Given the description of an element on the screen output the (x, y) to click on. 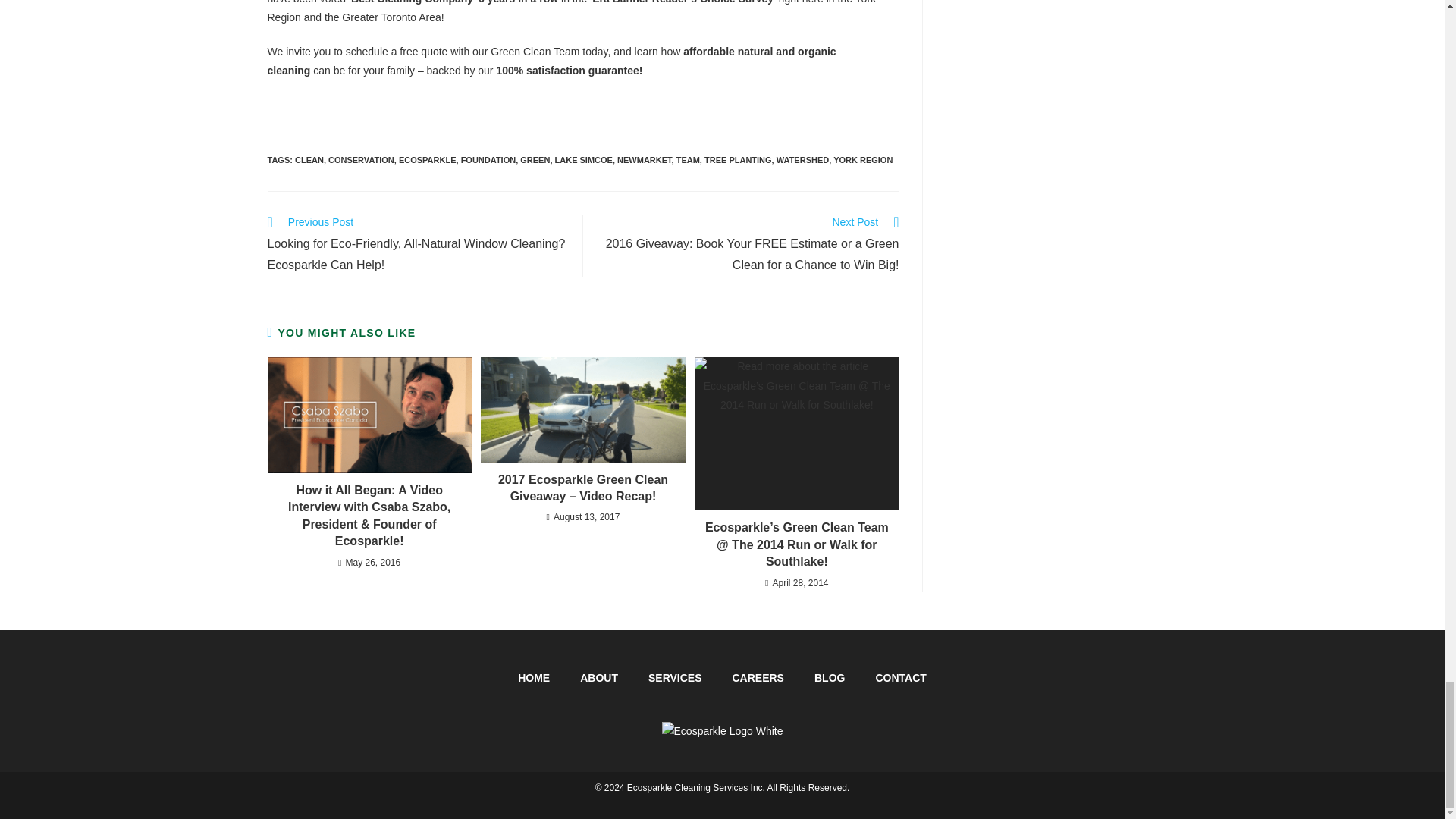
Ecosparkle Logo White (722, 731)
Our Guarantee (569, 70)
Contact Us (534, 51)
